Given the description of an element on the screen output the (x, y) to click on. 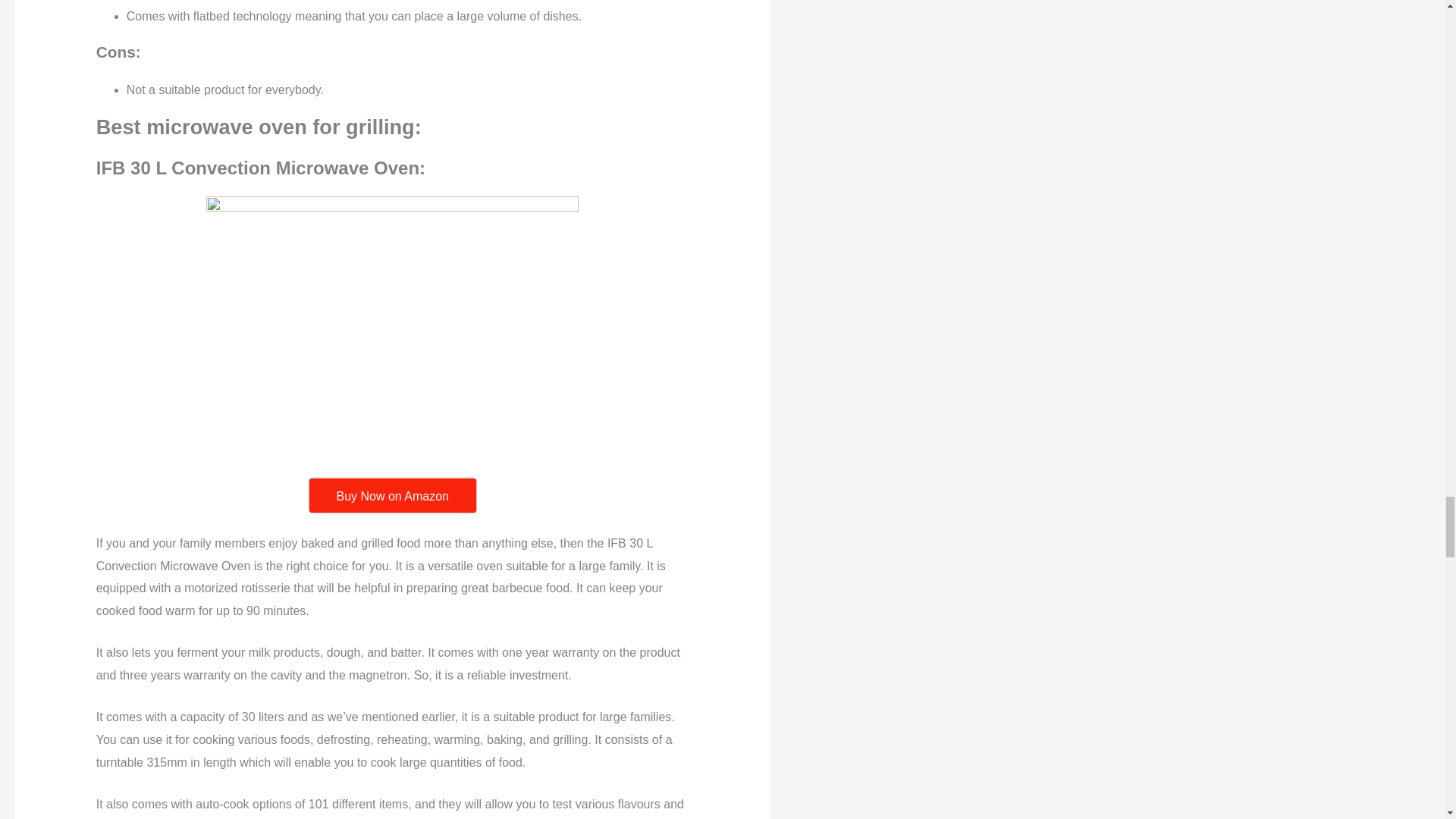
Buy Now on Amazon (392, 495)
